Given the description of an element on the screen output the (x, y) to click on. 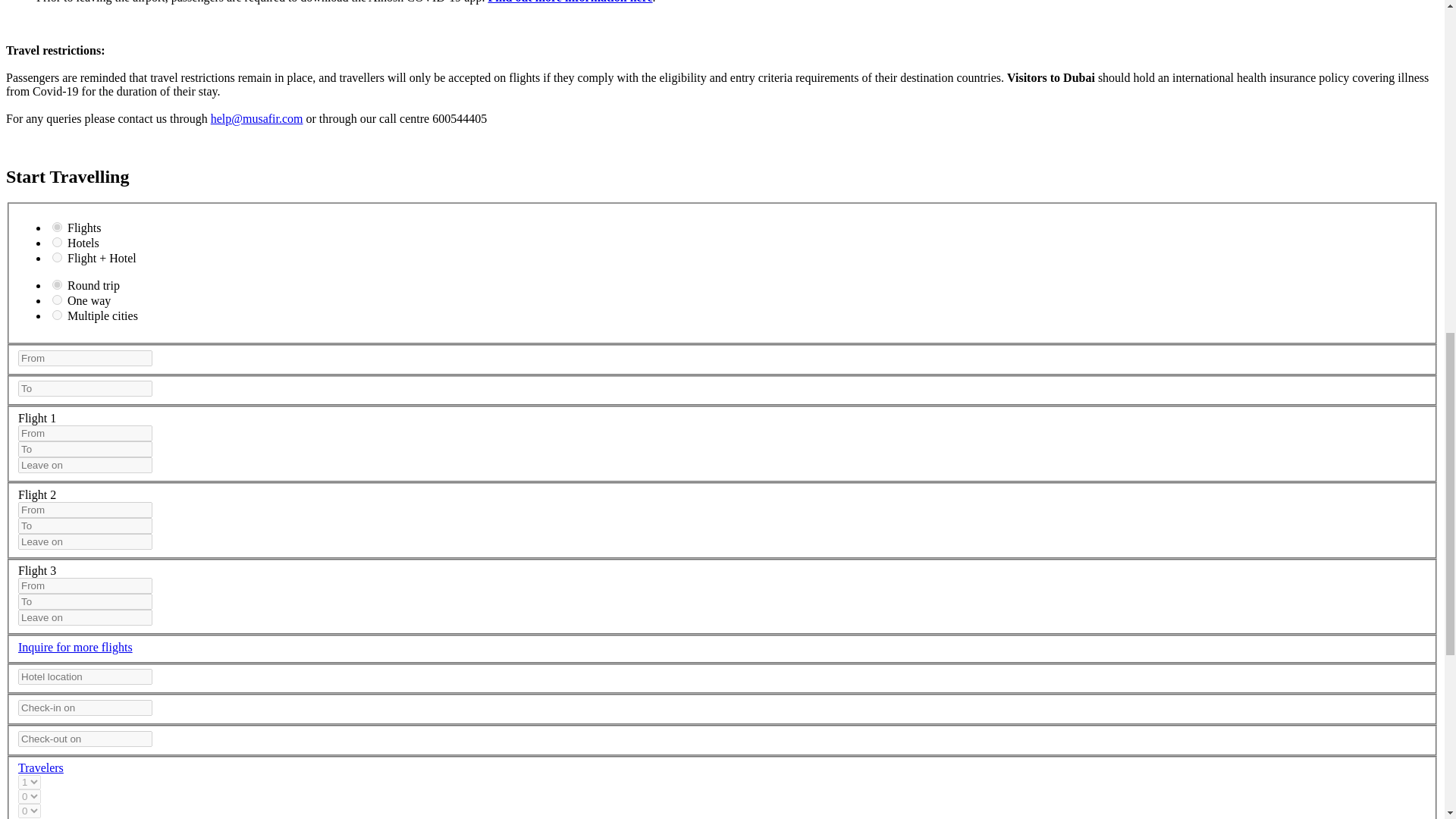
0 (57, 299)
4 (57, 315)
3 (57, 257)
Find out more information here (569, 2)
Inquire for more flights (74, 646)
1 (57, 226)
Travelers (40, 767)
1 (57, 284)
2 (57, 242)
